Given the description of an element on the screen output the (x, y) to click on. 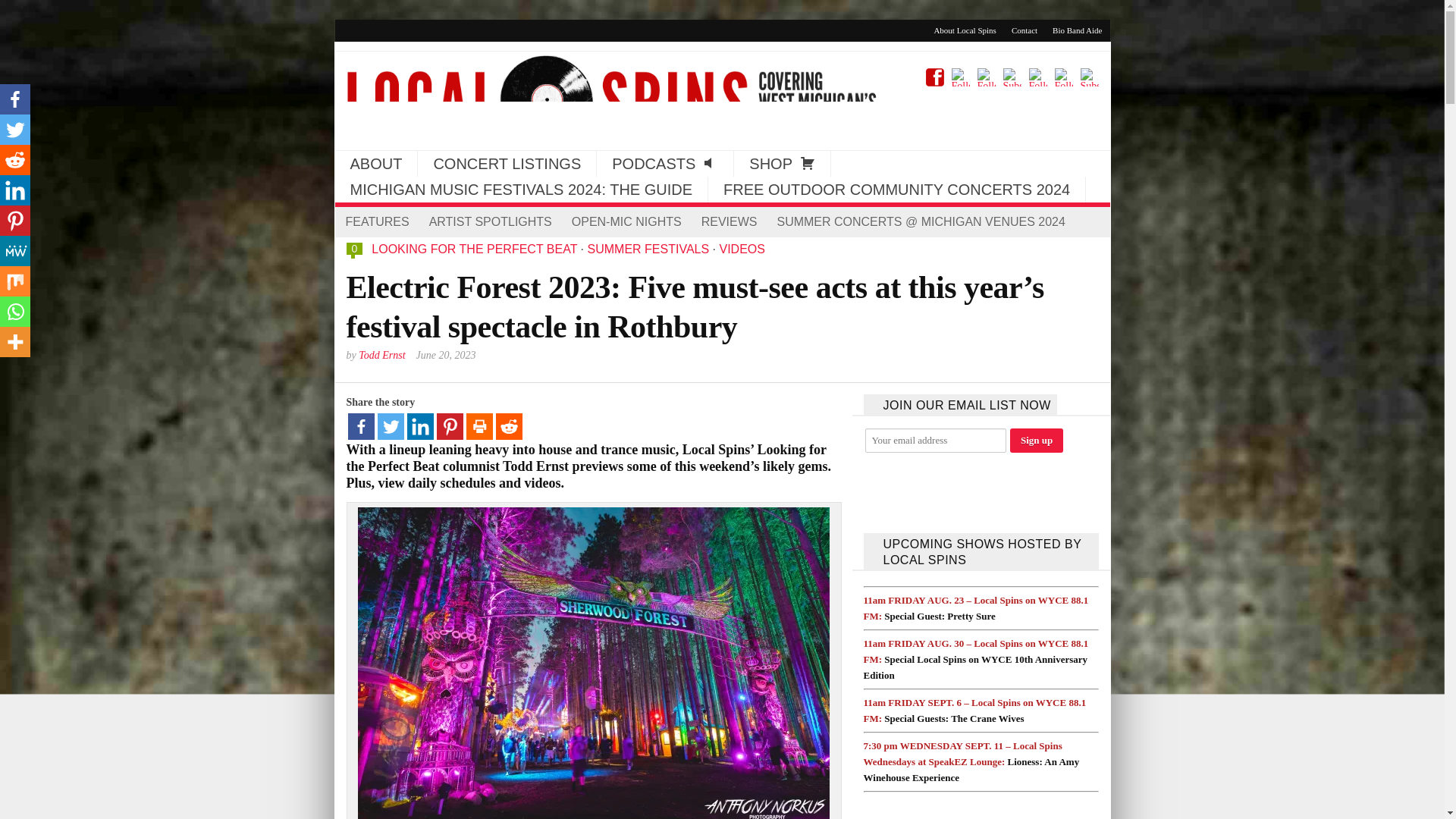
ABOUT (375, 163)
Posts by Todd Ernst (381, 355)
About Local Spins (965, 29)
FEATURES (376, 222)
Pinterest (15, 220)
Twitter (15, 129)
More (15, 341)
Contact (1024, 29)
MeWe (15, 250)
Print (478, 426)
